Given the description of an element on the screen output the (x, y) to click on. 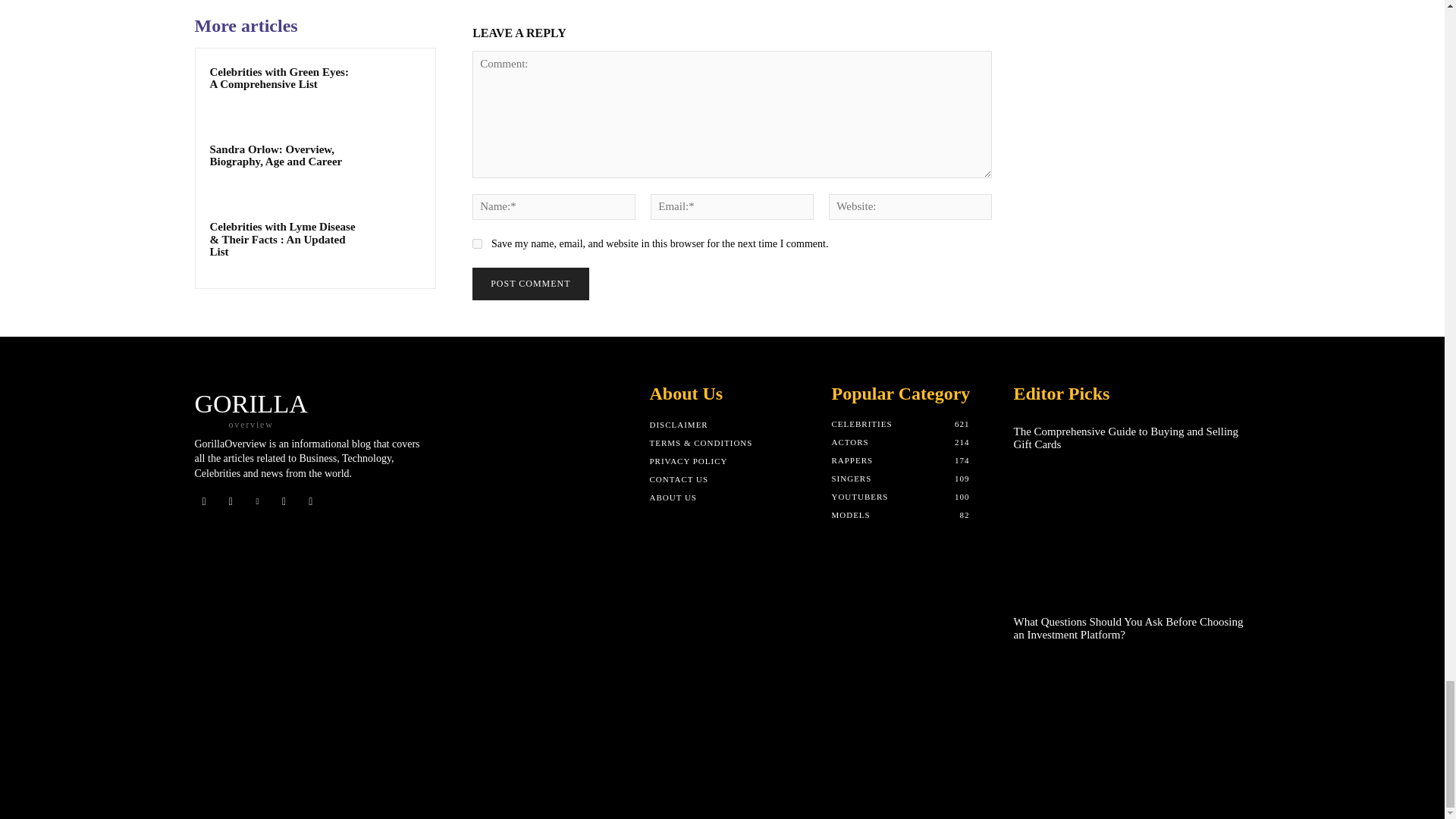
yes (476, 243)
Post Comment (529, 283)
